Given the description of an element on the screen output the (x, y) to click on. 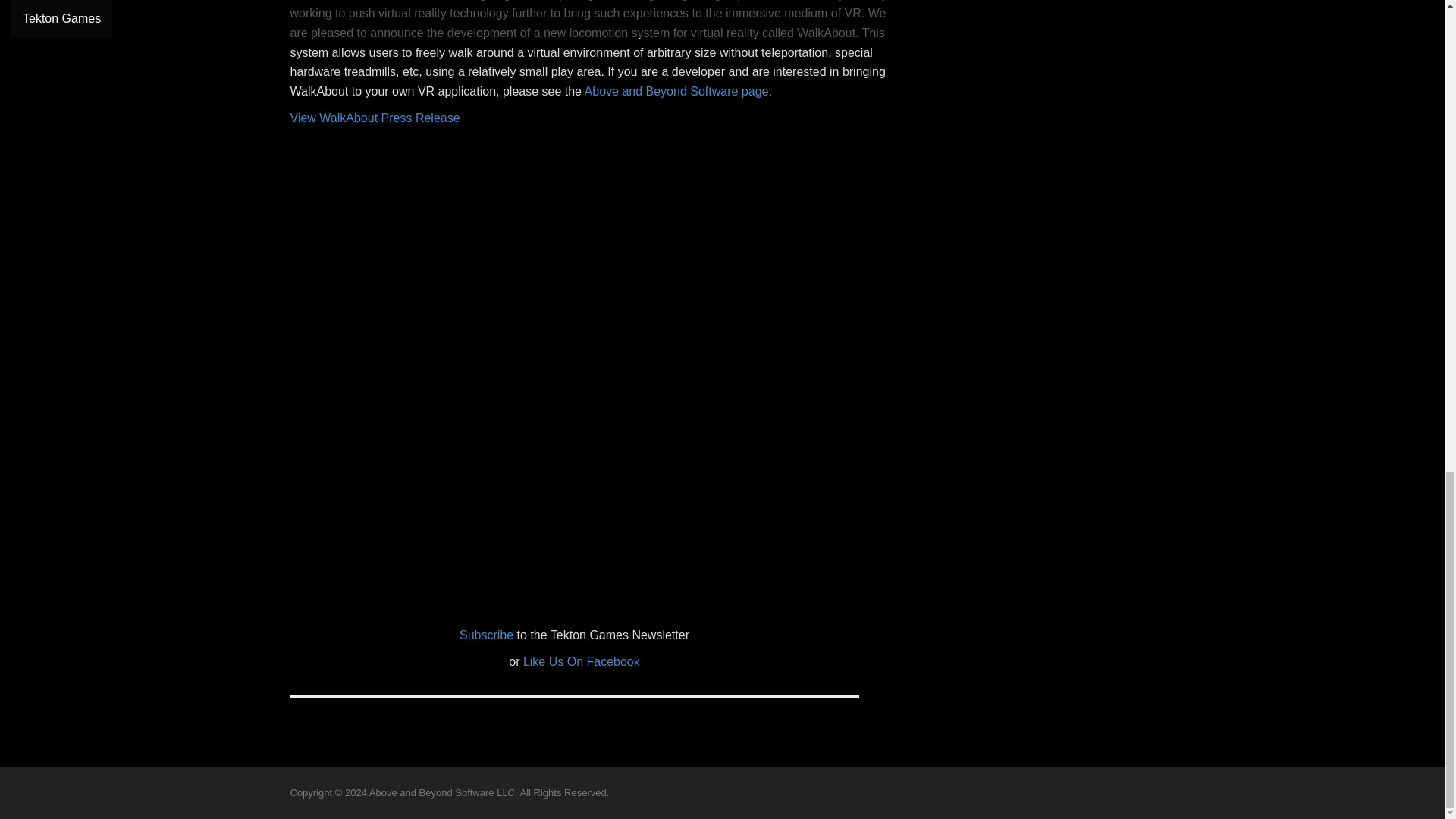
View WalkAbout Press Release (374, 117)
Above and Beyond Software page (676, 91)
Subscribe (486, 634)
Like Us On Facebook (581, 661)
